Given the description of an element on the screen output the (x, y) to click on. 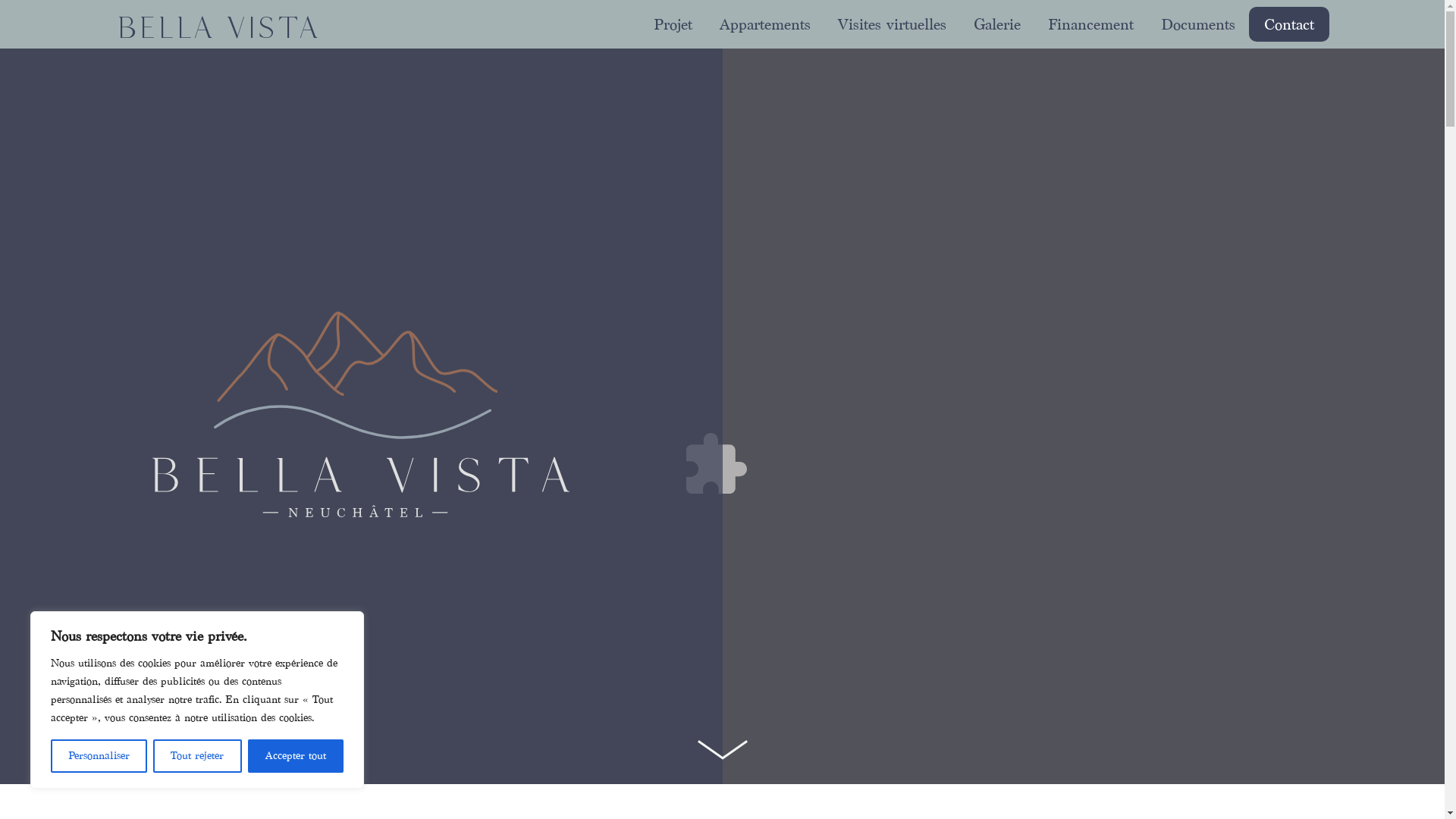
Visites virtuelles Element type: text (891, 22)
Galerie Element type: text (997, 22)
Suite Element type: text (722, 753)
Personnaliser Element type: text (98, 755)
BELLA VISTA Element type: text (216, 27)
Accepter tout Element type: text (295, 755)
Appartements Element type: text (764, 22)
Financement Element type: text (1090, 22)
Tout rejeter Element type: text (197, 755)
Projet Element type: text (673, 22)
Contact Element type: text (1288, 23)
Documents Element type: text (1197, 22)
